Given the description of an element on the screen output the (x, y) to click on. 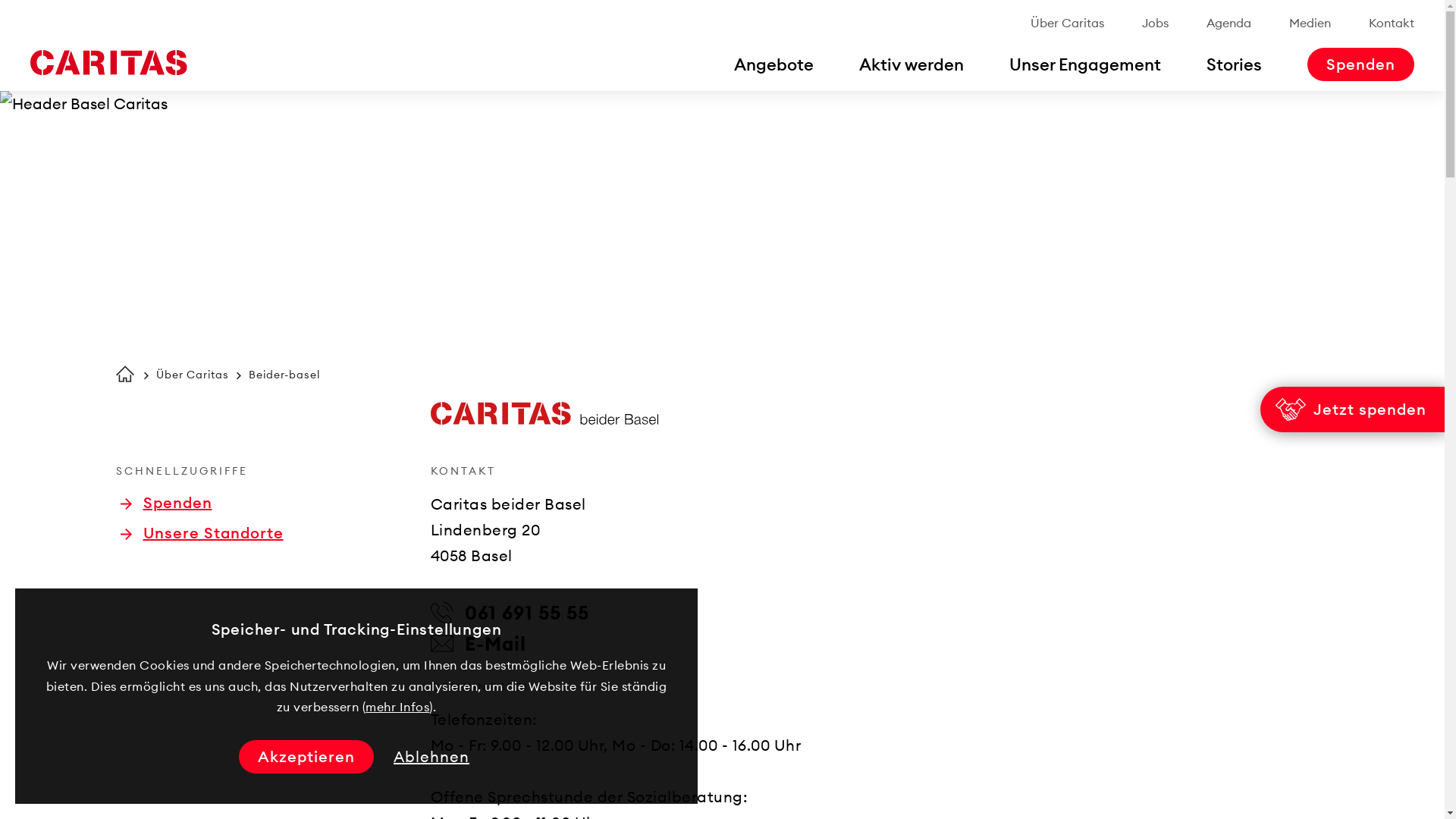
Medien Element type: text (1309, 22)
Open sub menu Element type: text (18, 18)
Unser Engagement Element type: text (1085, 64)
Aktiv werden Element type: text (911, 64)
mehr Infos Element type: text (397, 706)
Angebote Element type: text (773, 64)
Startseite Element type: text (124, 373)
Startseite Element type: text (108, 62)
Akzeptieren Element type: text (305, 756)
Spenden Element type: text (165, 502)
Ablehnen Element type: text (431, 756)
Stories Element type: text (1233, 64)
Kontakt Element type: text (1391, 22)
Jobs Element type: text (1155, 22)
Agenda Element type: text (1228, 22)
Unsere Standorte Element type: text (201, 532)
